Given the description of an element on the screen output the (x, y) to click on. 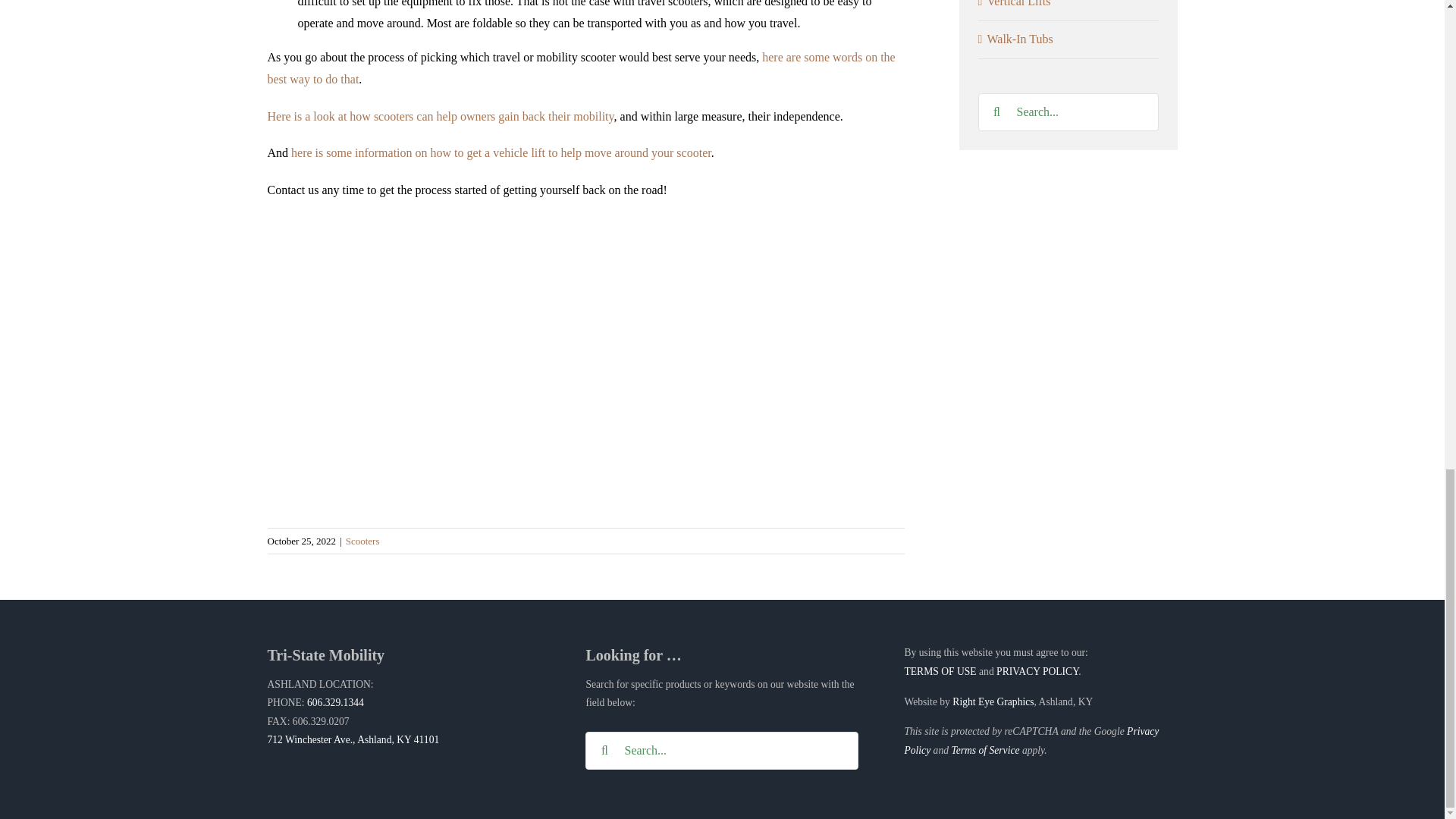
YouTube video player 1 (494, 625)
Vertical Lifts (1069, 6)
Scooters (363, 541)
Walk-In Tubs (1069, 39)
here are some words on the best way to do that (580, 67)
